Given the description of an element on the screen output the (x, y) to click on. 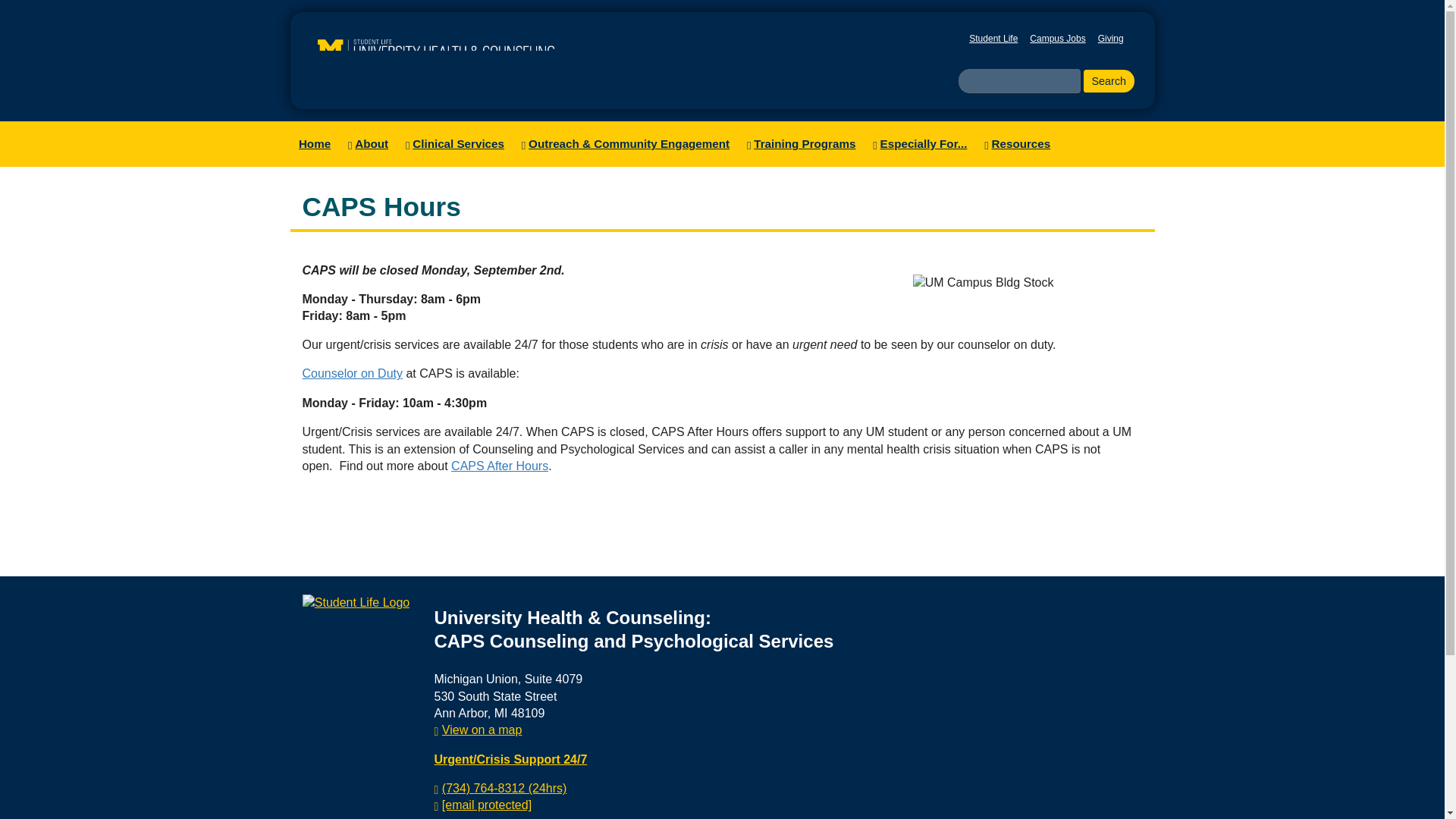
Giving (1110, 38)
Search (1108, 80)
Campus Jobs (1056, 38)
About (367, 144)
Home (314, 144)
Clinical Services (453, 144)
Search (1108, 80)
Enter the terms you wish to search for. (1019, 80)
Student Life (993, 38)
